Given the description of an element on the screen output the (x, y) to click on. 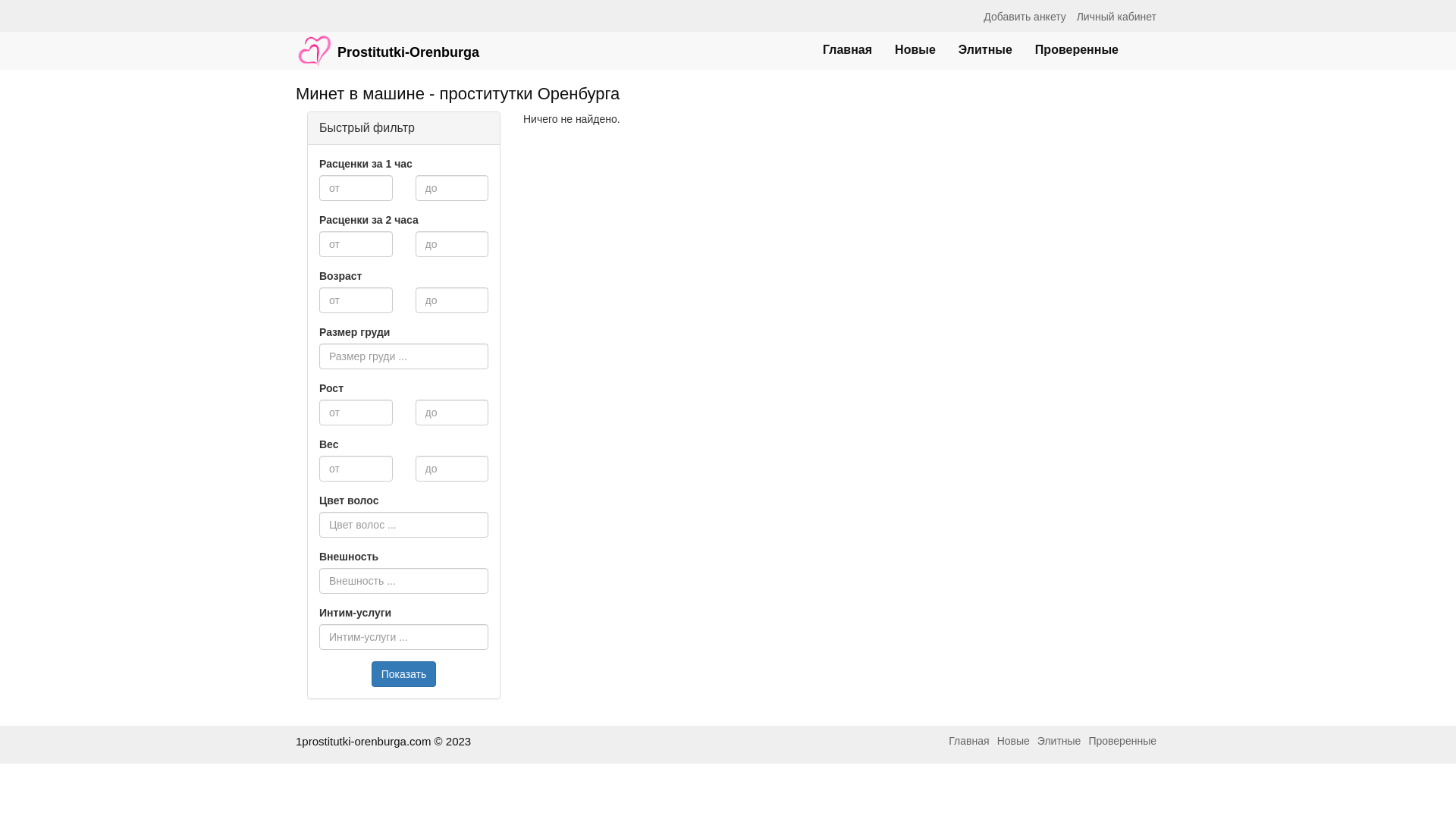
Prostitutki-Orenburga Element type: text (387, 43)
